Given the description of an element on the screen output the (x, y) to click on. 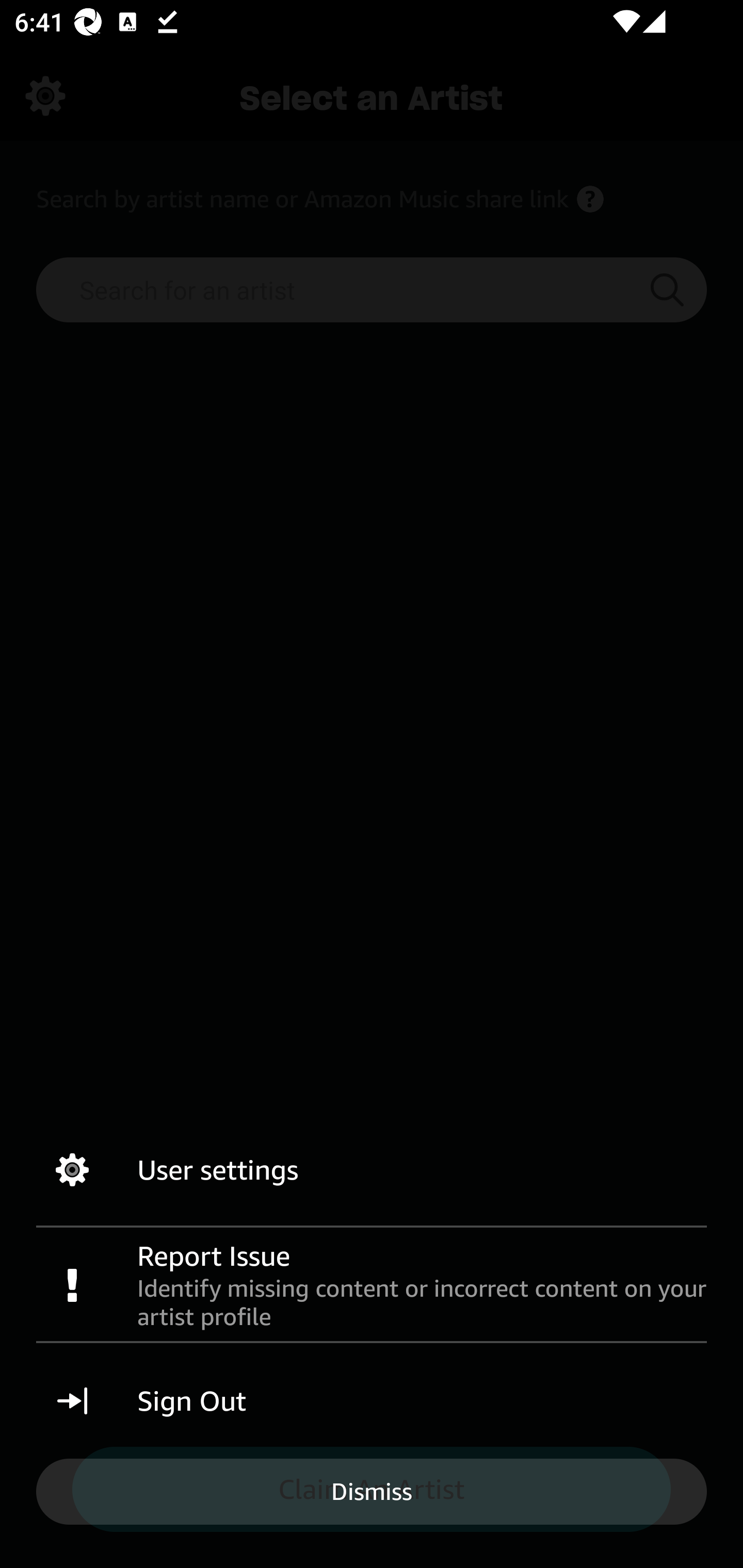
User settings  icon User settings User settings (371, 1169)
Sign Out  icon Sign Out Sign Out (371, 1400)
Dismiss button Dismiss (371, 1491)
